Given the description of an element on the screen output the (x, y) to click on. 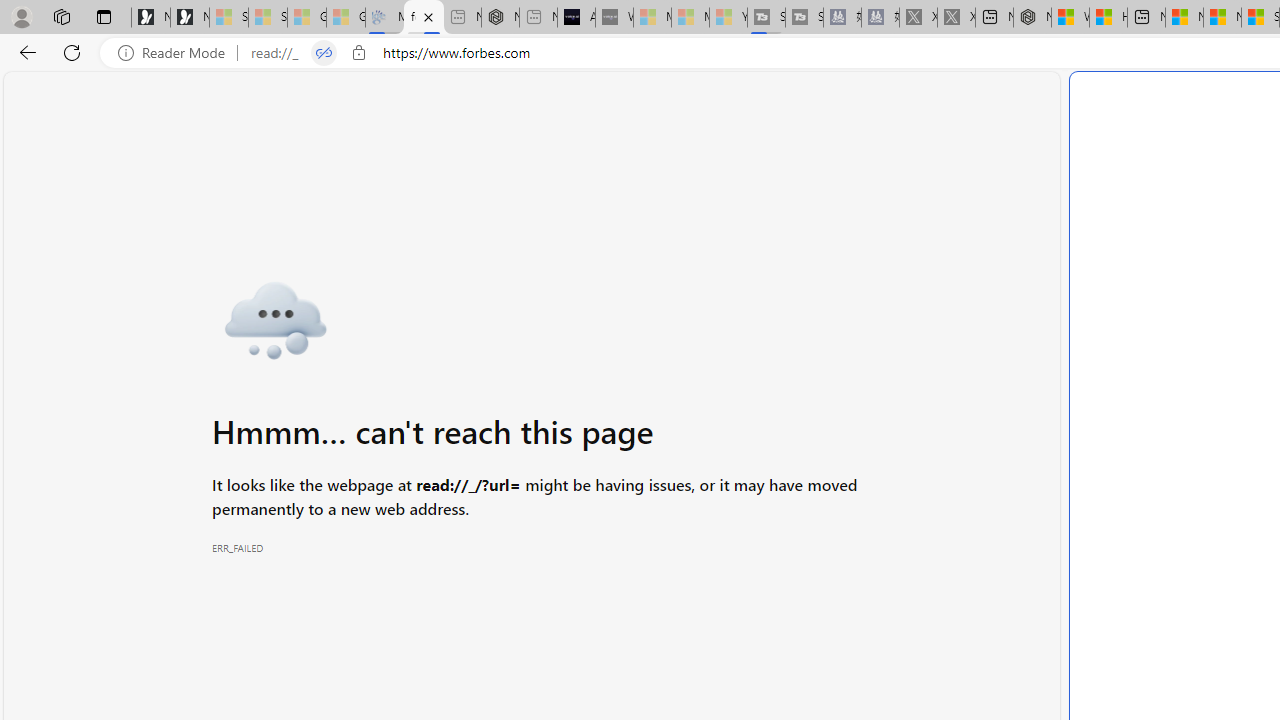
New tab - Sleeping (537, 17)
What's the best AI voice generator? - voice.ai - Sleeping (614, 17)
Newsletter Sign Up (189, 17)
Wildlife - MSN (1070, 17)
Reader Mode (177, 53)
Nordace - My Account (1031, 17)
X - Sleeping (956, 17)
